Given the description of an element on the screen output the (x, y) to click on. 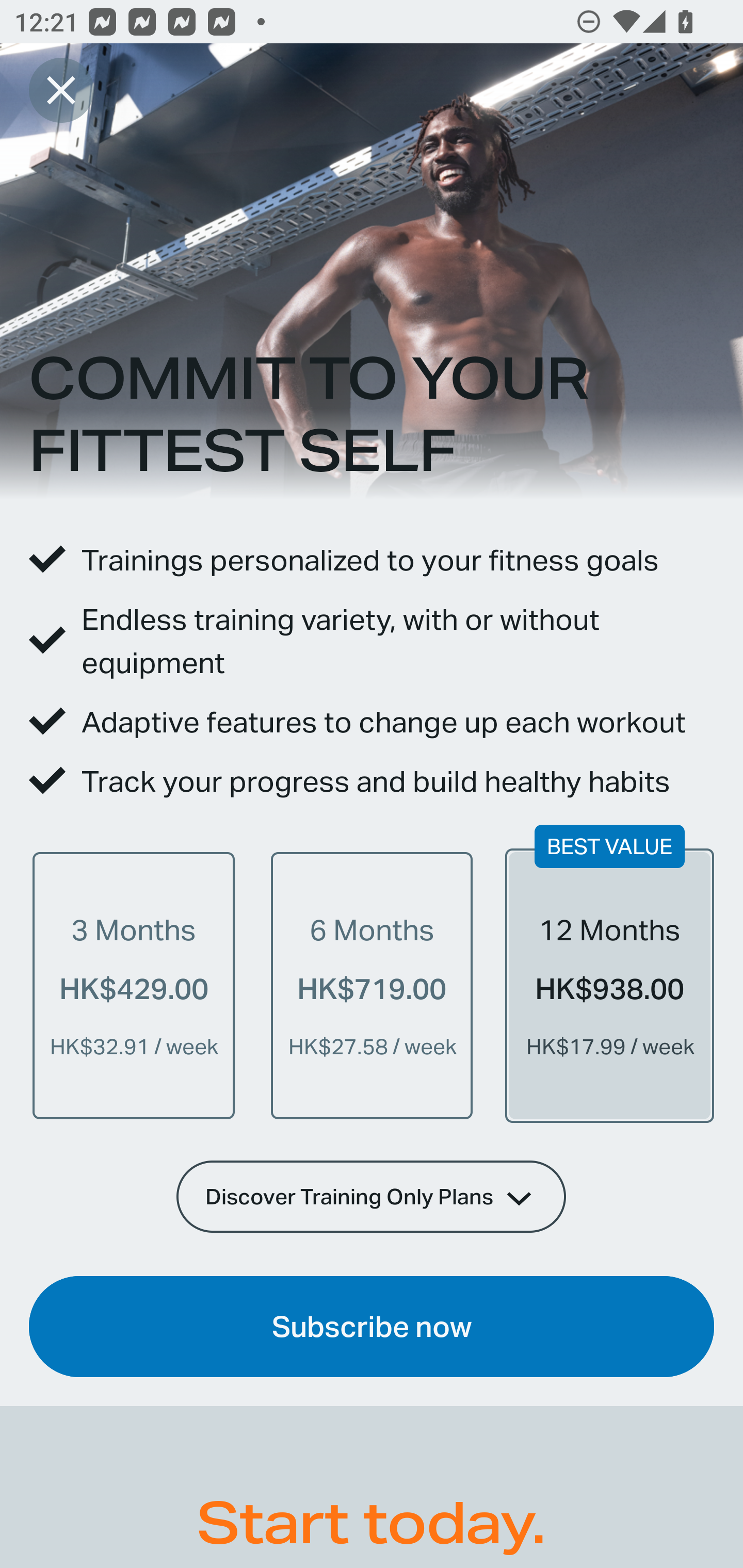
Close (60, 90)
3 Months HK$429.00 HK$32.91 / week (133, 985)
6 Months HK$719.00 HK$27.58 / week (371, 985)
12 Months HK$938.00 HK$17.99 / week (609, 985)
Discover Training Only Plans (371, 1196)
Subscribe now (371, 1326)
